Given the description of an element on the screen output the (x, y) to click on. 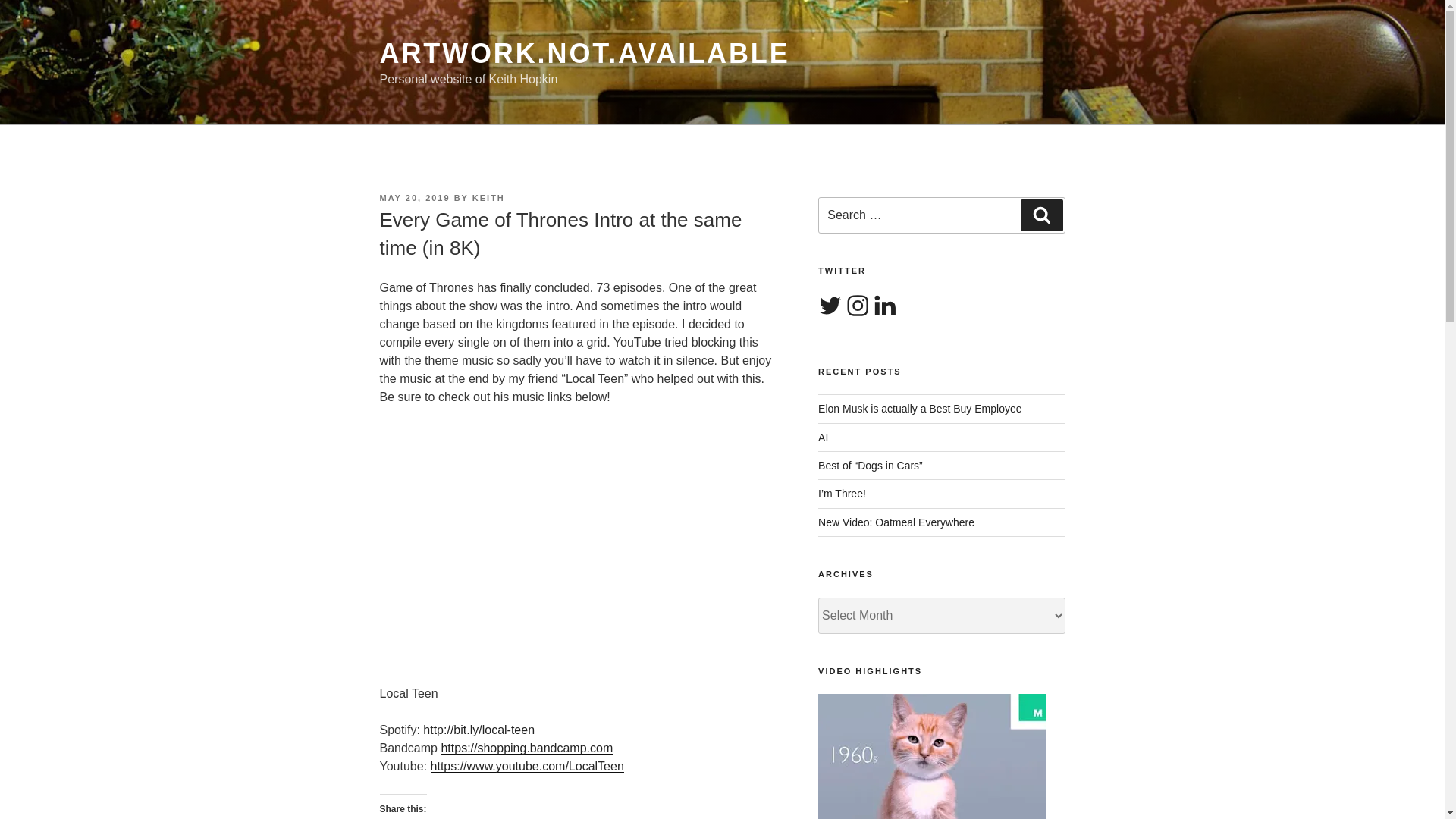
LinkedIn (884, 306)
Instagram (857, 306)
Elon Musk is actually a Best Buy Employee (920, 408)
Search (1041, 214)
KEITH (488, 197)
ARTWORK.NOT.AVAILABLE (583, 52)
Twitter (830, 306)
New Video: Oatmeal Everywhere (896, 522)
MAY 20, 2019 (413, 197)
